Given the description of an element on the screen output the (x, y) to click on. 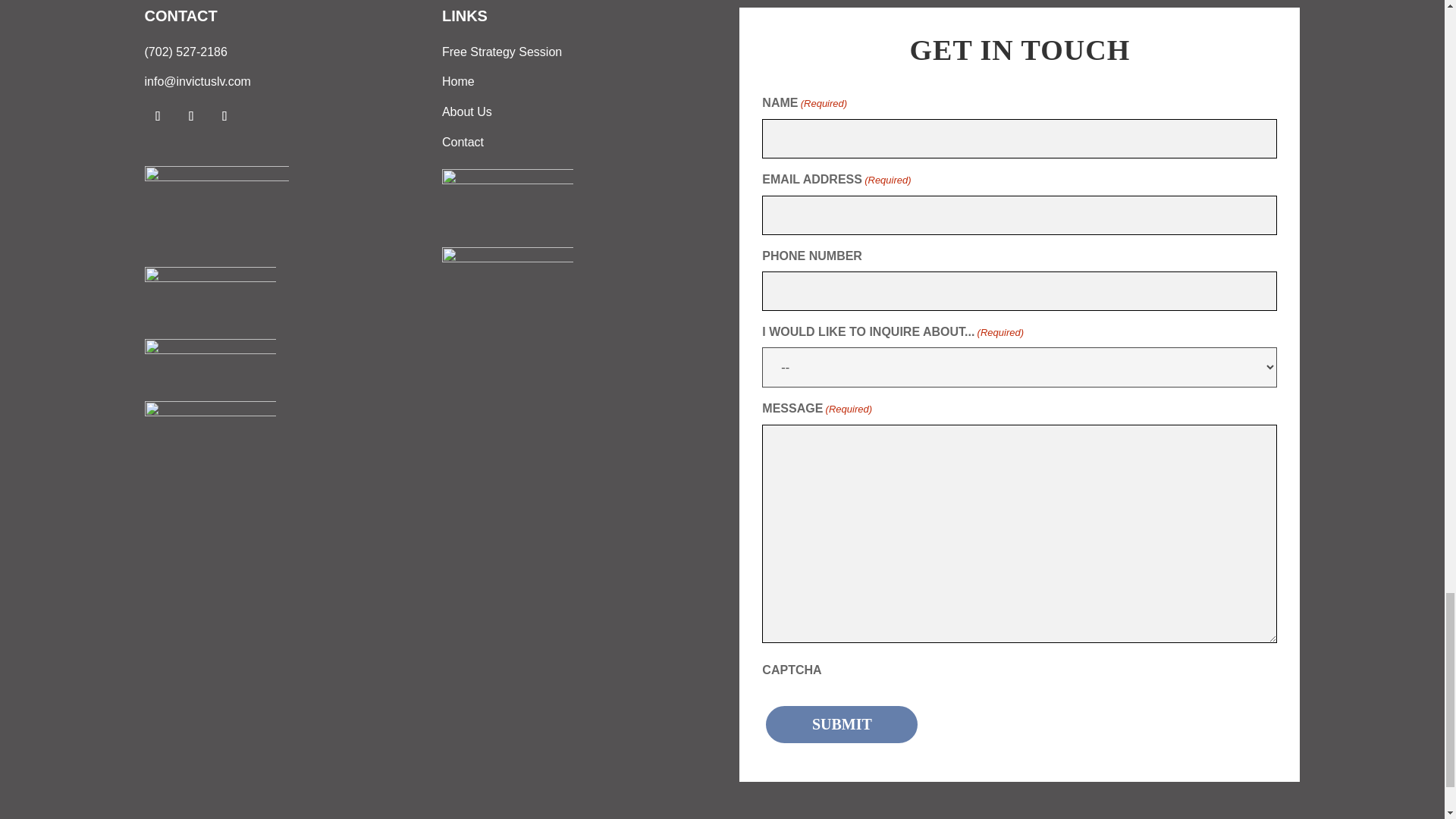
Follow on LinkedIn (224, 115)
Follow on Instagram (191, 115)
Follow on Facebook (157, 115)
5 B (209, 294)
Submit (841, 723)
BNI proud member (216, 207)
everything disc (209, 361)
